Given the description of an element on the screen output the (x, y) to click on. 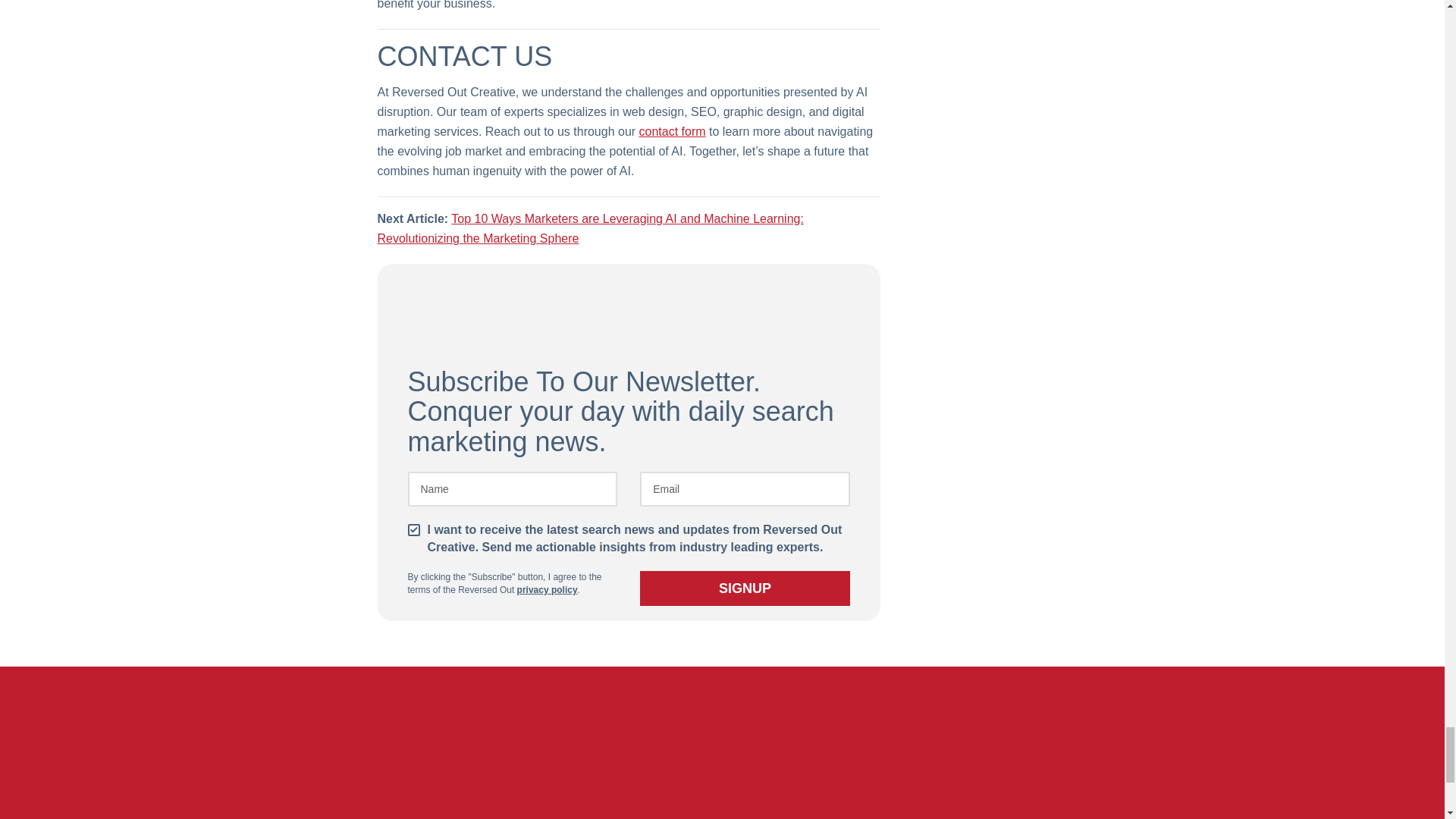
Signup (745, 588)
1 (413, 530)
